Given the description of an element on the screen output the (x, y) to click on. 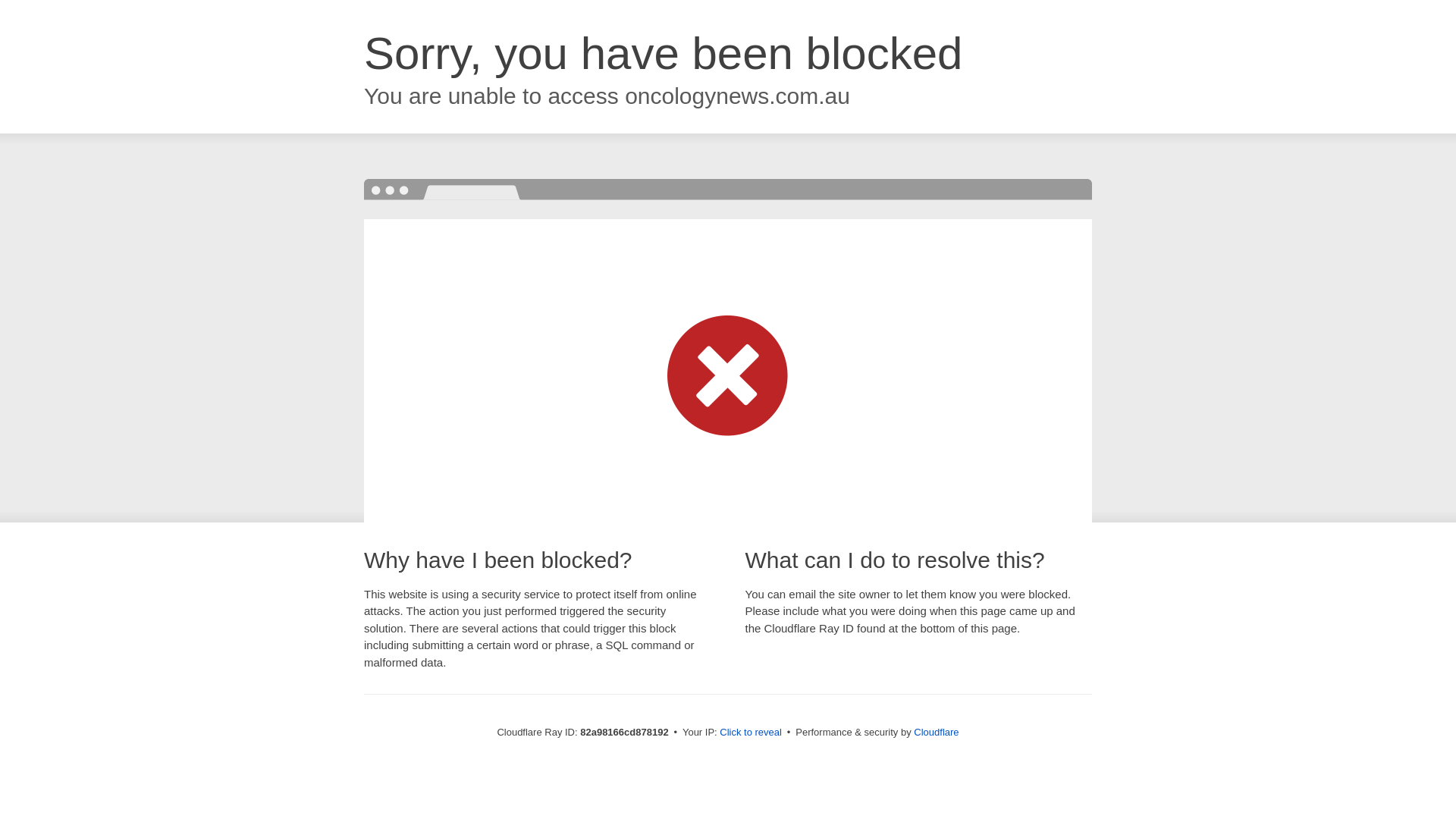
Cloudflare Element type: text (935, 731)
Click to reveal Element type: text (750, 732)
